Given the description of an element on the screen output the (x, y) to click on. 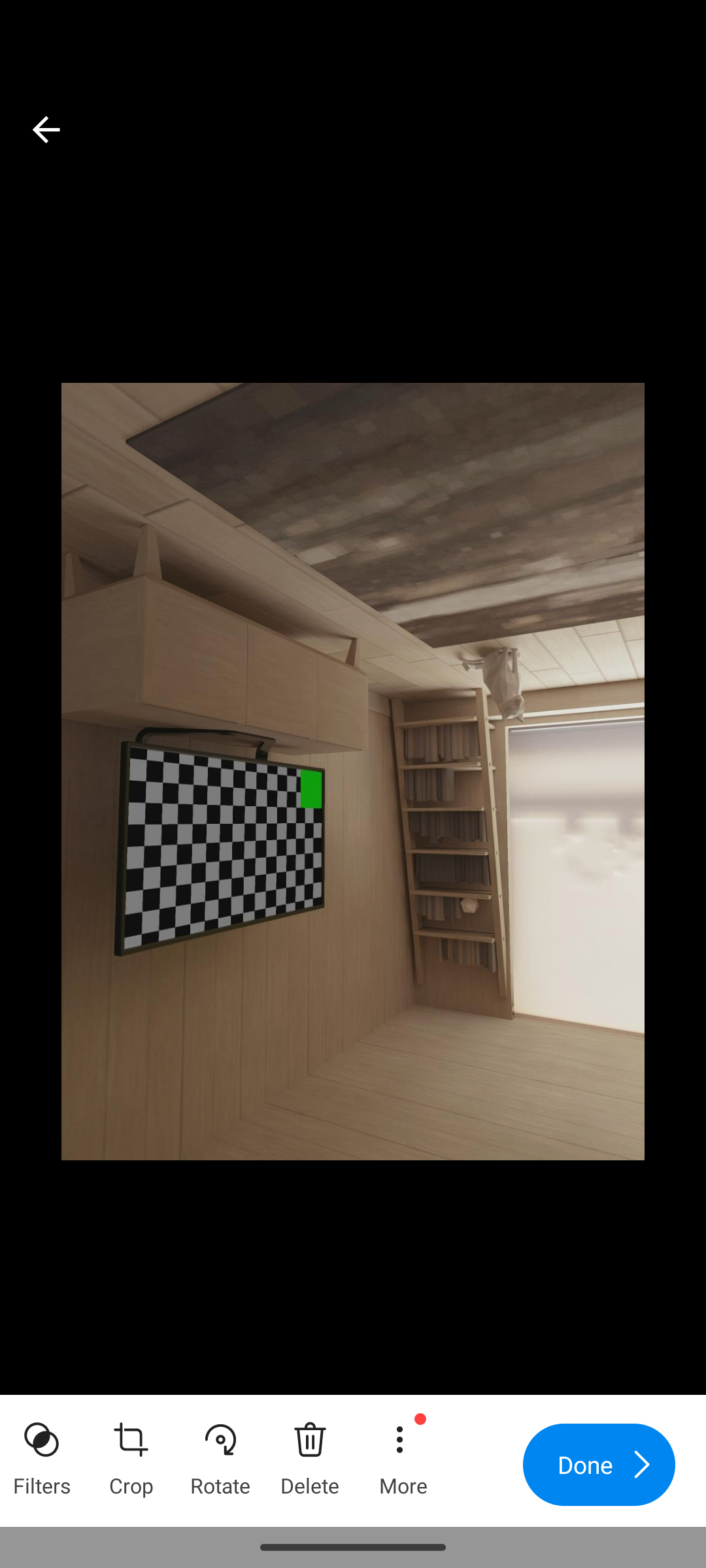
Back (46, 129)
Filters (41, 1453)
Crop (130, 1453)
Rotate (220, 1453)
Delete (309, 1453)
More (401, 1453)
Done (598, 1464)
